Given the description of an element on the screen output the (x, y) to click on. 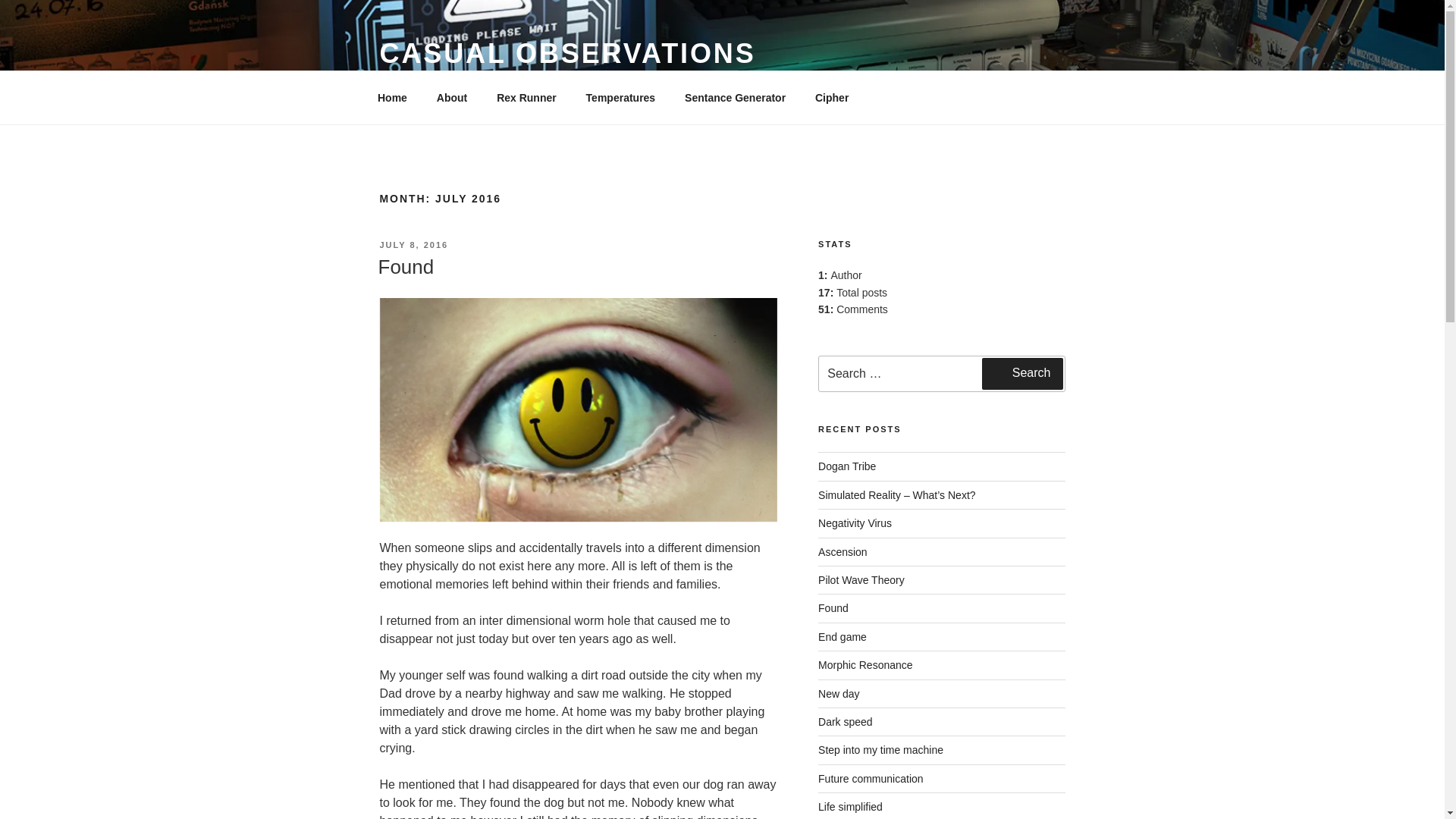
Pilot Wave Theory (861, 580)
Negativity Virus (854, 522)
Dark speed (845, 721)
CASUAL OBSERVATIONS (566, 52)
Step into my time machine (880, 749)
Cipher (831, 97)
About (451, 97)
Sentance Generator (735, 97)
Temperatures (620, 97)
New day (838, 693)
